Given the description of an element on the screen output the (x, y) to click on. 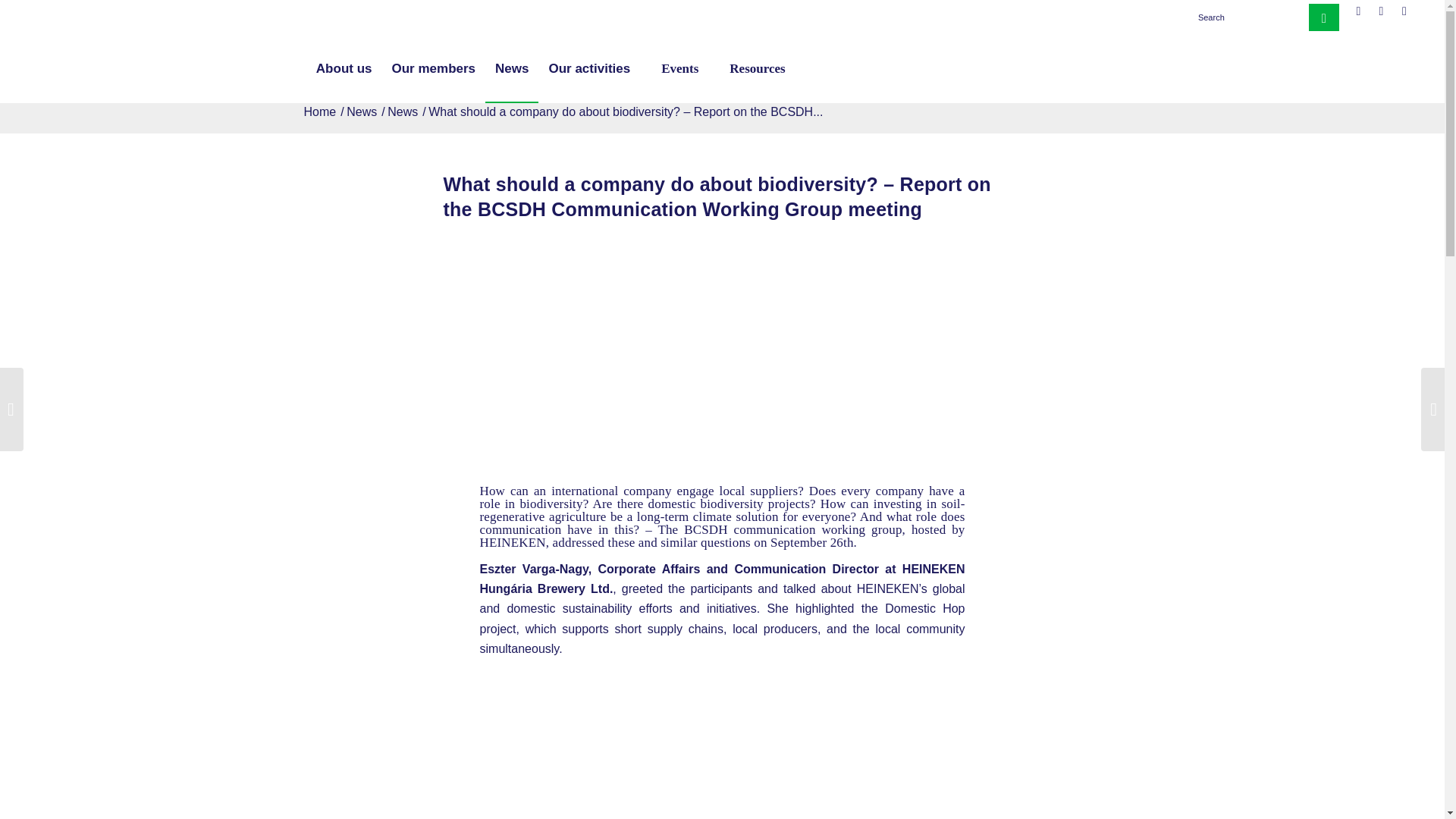
About us (343, 69)
News (360, 111)
BCSDH (320, 111)
Facebook (1359, 11)
Events (673, 69)
LinkedIn (1380, 11)
Our activities (589, 69)
Resources (750, 69)
Our members (433, 69)
Mail (1404, 11)
